Given the description of an element on the screen output the (x, y) to click on. 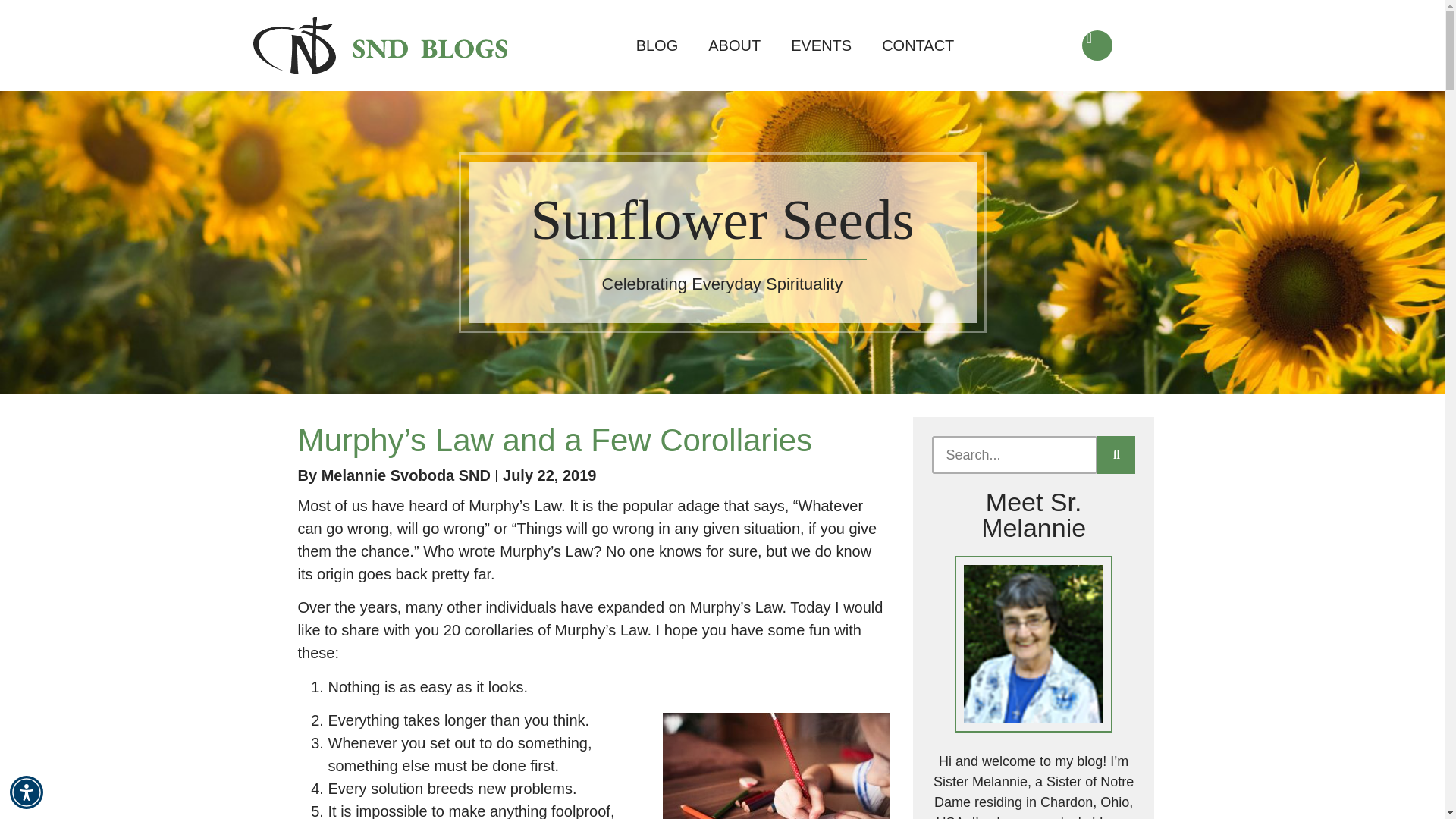
Accessibility Menu (26, 792)
EVENTS (821, 45)
ABOUT (734, 45)
CONTACT (917, 45)
BLOG (657, 45)
